Given the description of an element on the screen output the (x, y) to click on. 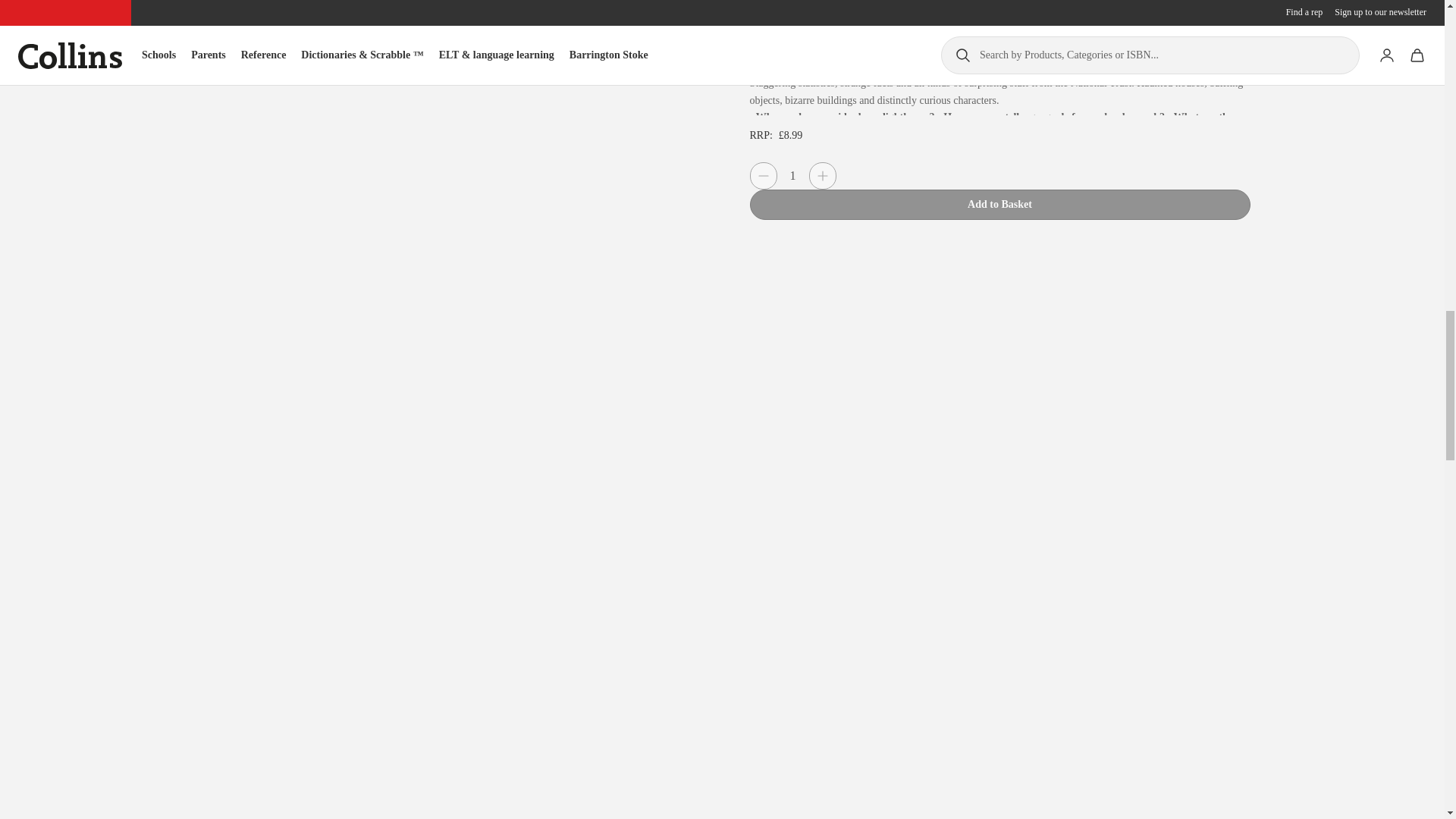
Add to Basket (999, 204)
Increase quantity (821, 175)
Decrease quantity (762, 175)
1 (791, 175)
